Given the description of an element on the screen output the (x, y) to click on. 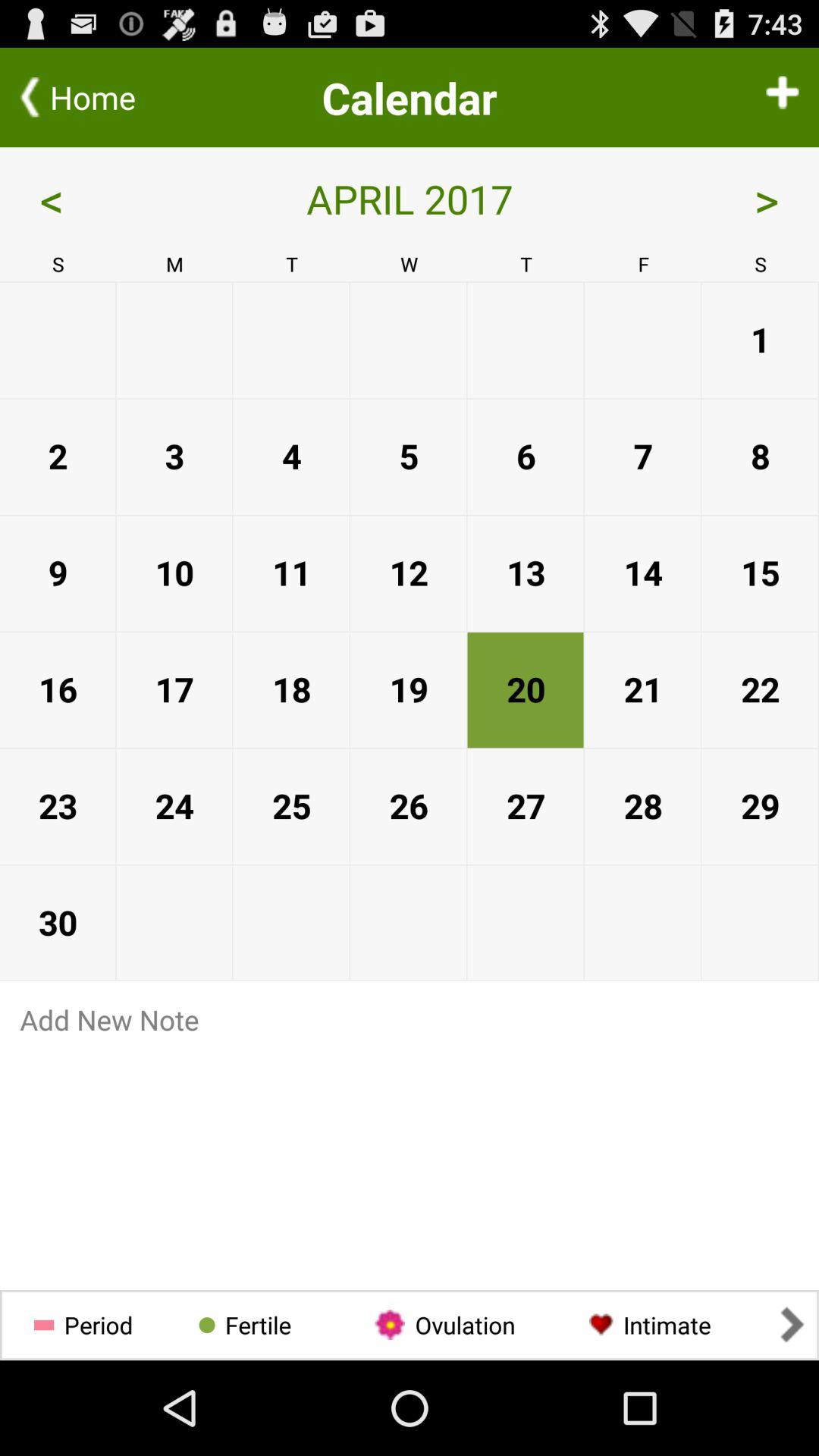
jump to < app (102, 198)
